Given the description of an element on the screen output the (x, y) to click on. 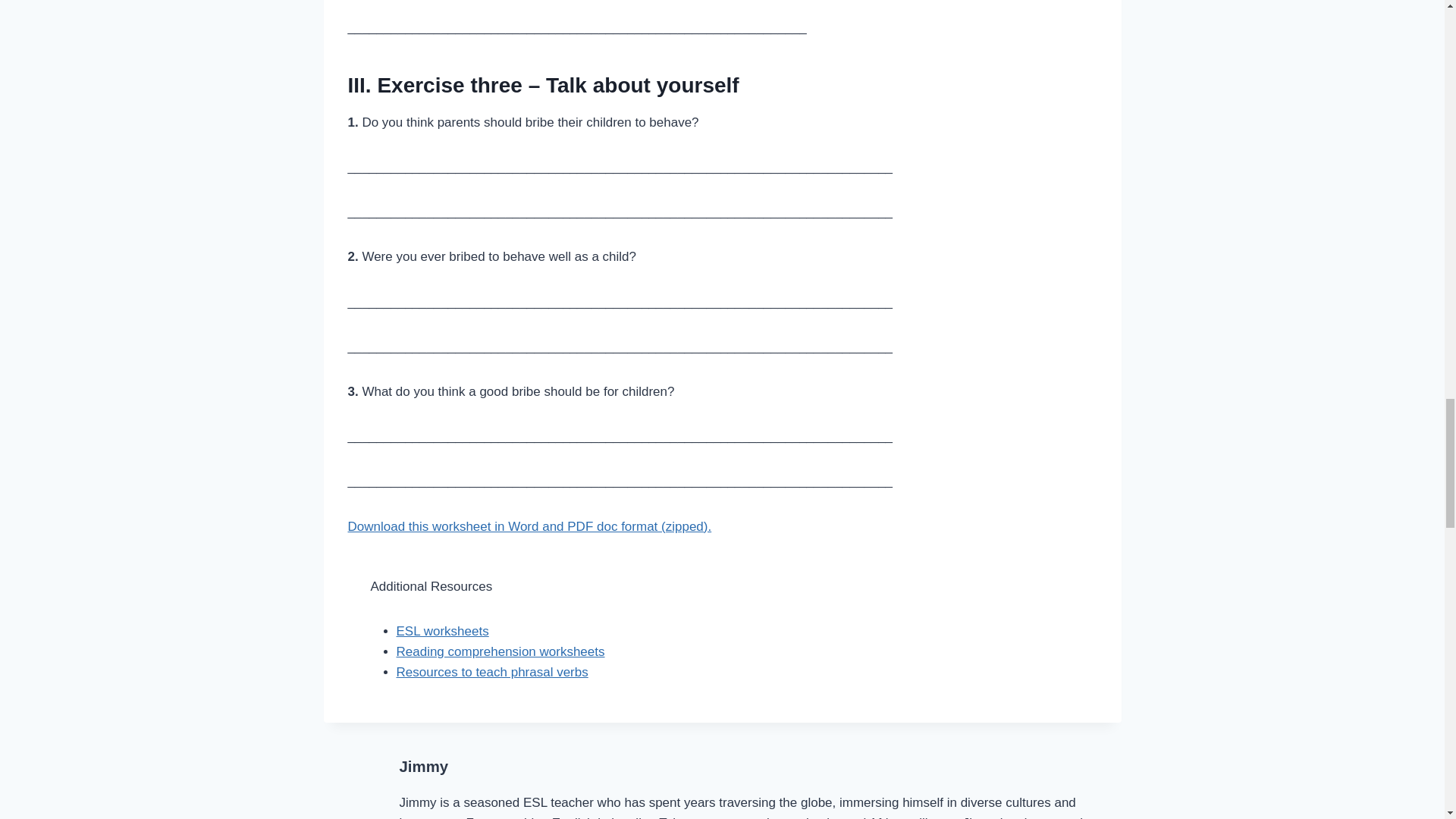
Reading comprehension worksheets (500, 651)
ESL worksheets (441, 631)
Posts by Jimmy (423, 766)
Resources to teach phrasal verbs (492, 672)
Jimmy (423, 766)
